Given the description of an element on the screen output the (x, y) to click on. 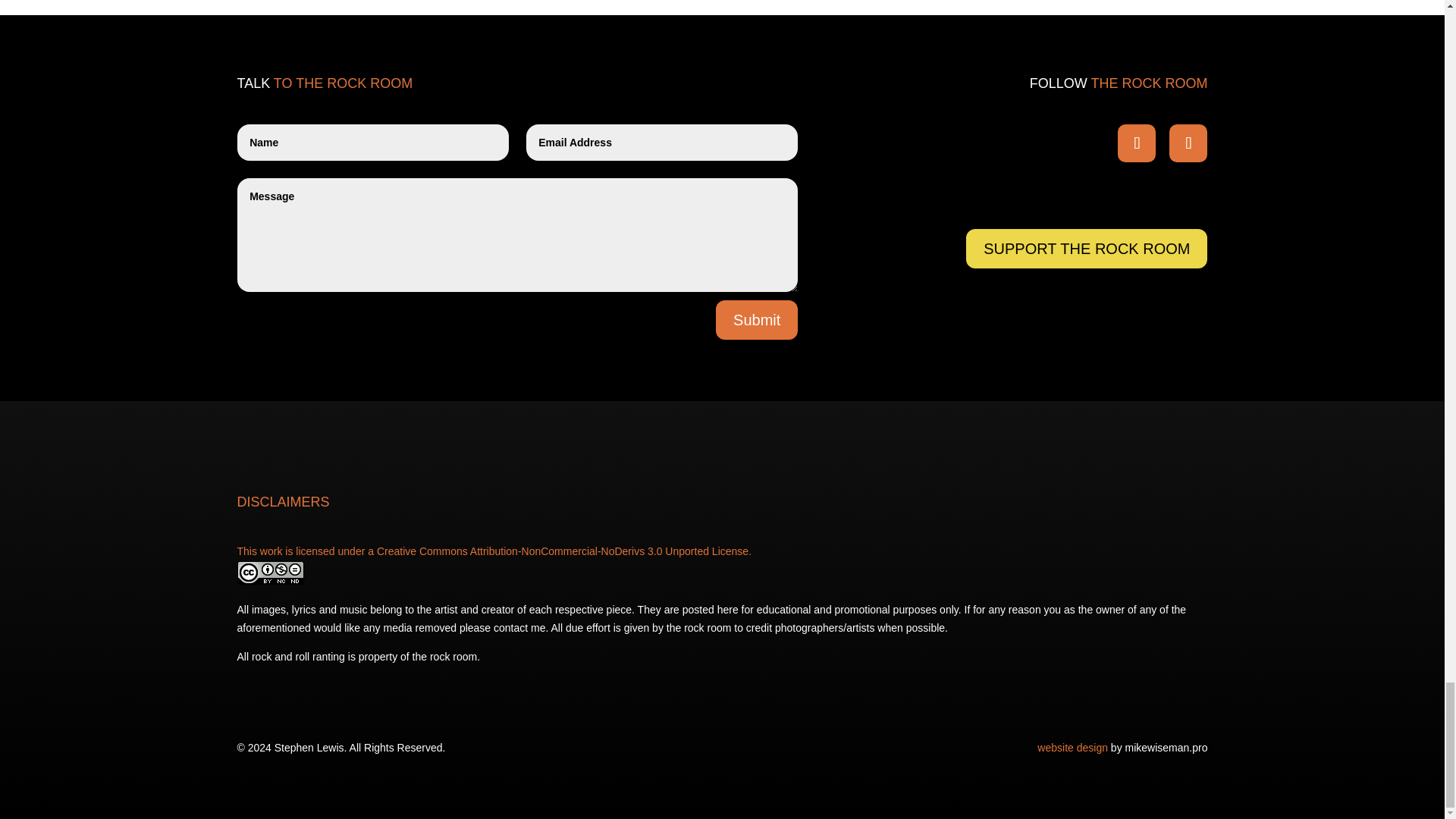
website design (1072, 747)
Follow on Instagram (1188, 143)
SUPPORT THE ROCK ROOM (1086, 248)
Follow on Facebook (1137, 143)
Submit (756, 319)
